Given the description of an element on the screen output the (x, y) to click on. 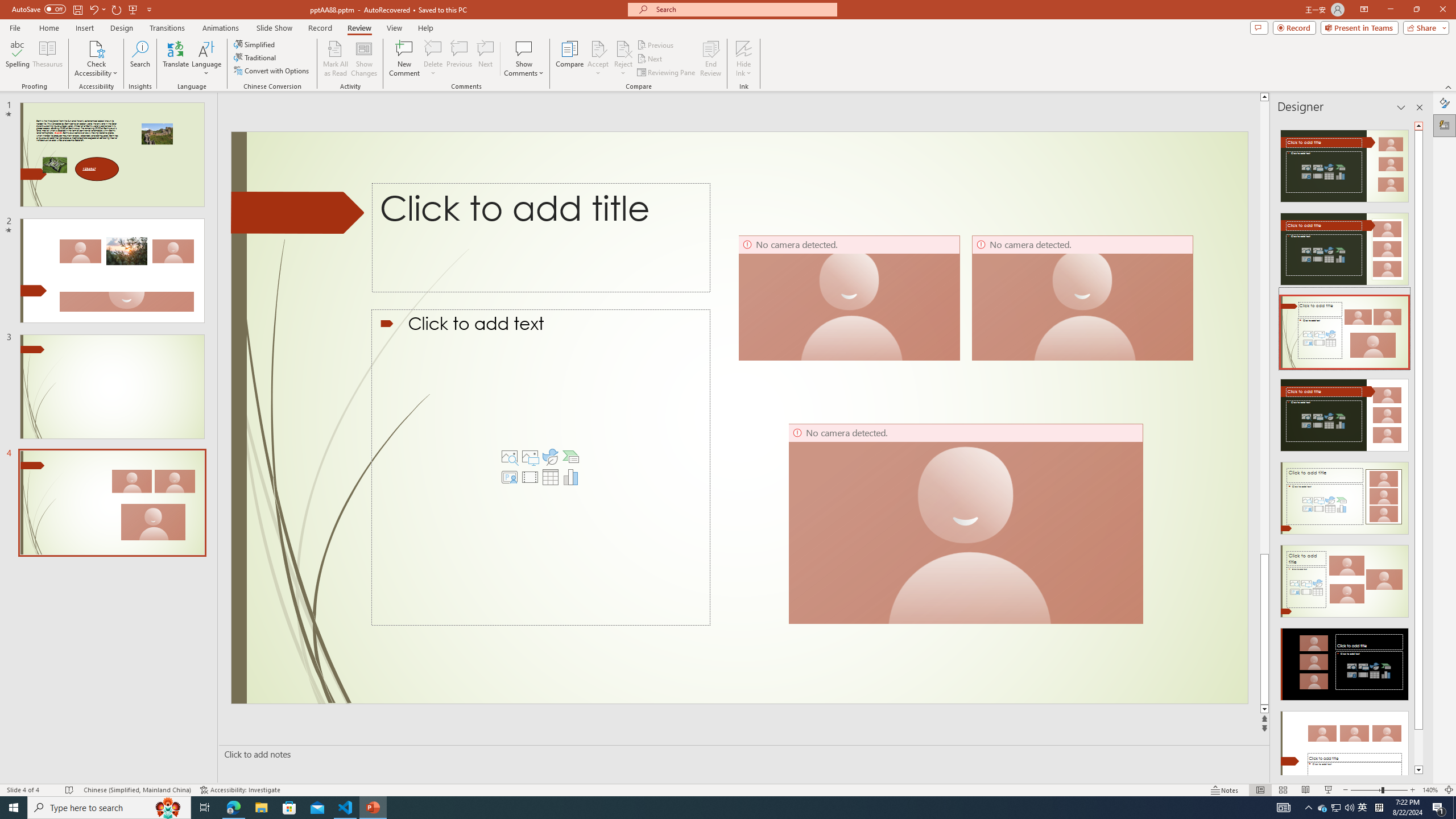
Line down (1264, 709)
Show Changes (363, 58)
Insert Table (550, 477)
Traditional (255, 56)
Compare (569, 58)
